Given the description of an element on the screen output the (x, y) to click on. 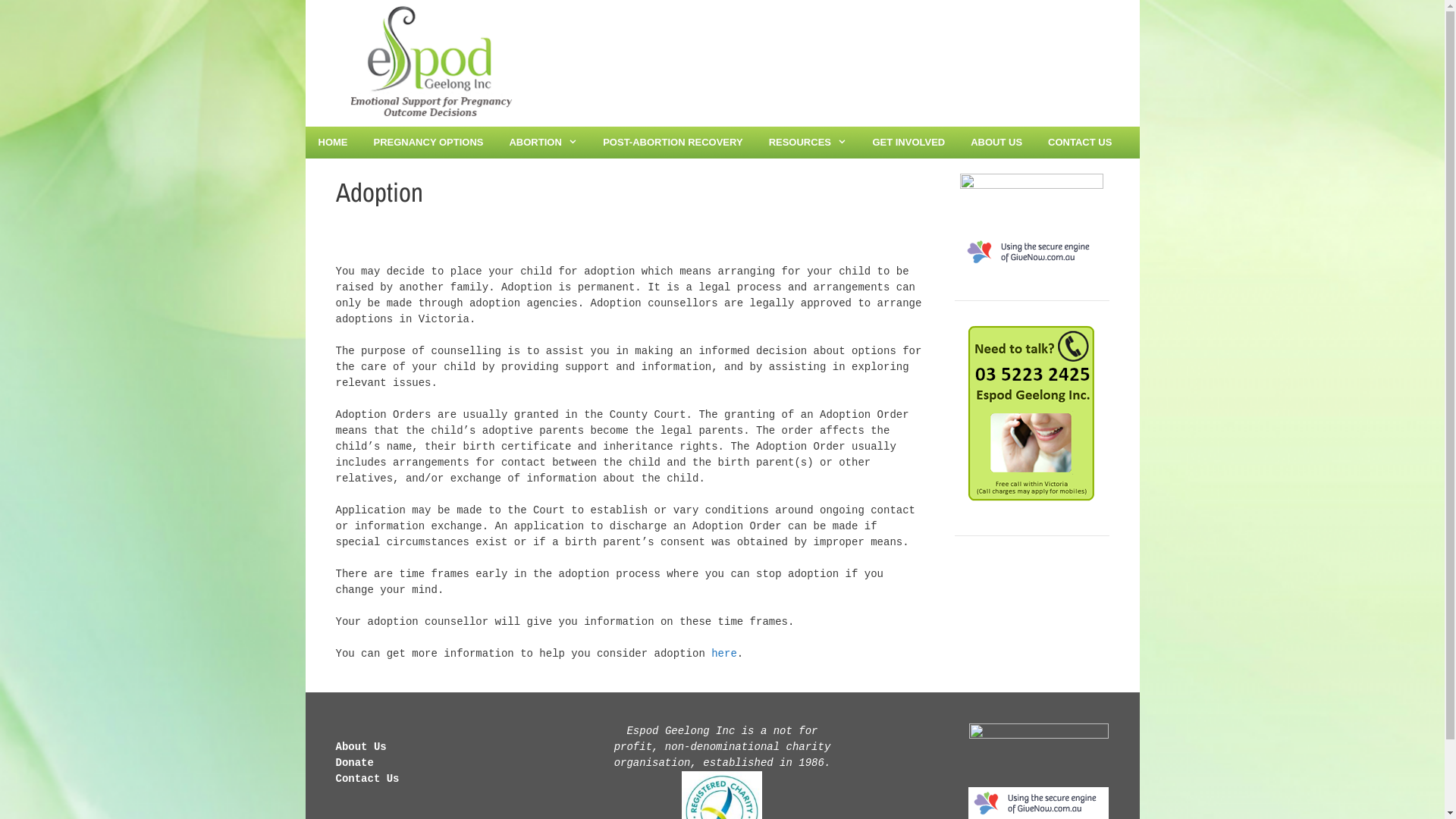
POST-ABORTION RECOVERY Element type: text (672, 142)
ABORTION Element type: text (542, 142)
GET INVOLVED Element type: text (908, 142)
CONTACT US Element type: text (1079, 142)
Contact Us Element type: text (366, 778)
RESOURCES Element type: text (807, 142)
Donate Element type: text (354, 762)
ABOUT US Element type: text (996, 142)
HOME Element type: text (332, 142)
here Element type: text (724, 653)
PREGNANCY OPTIONS Element type: text (428, 142)
About Us Element type: text (360, 746)
